Given the description of an element on the screen output the (x, y) to click on. 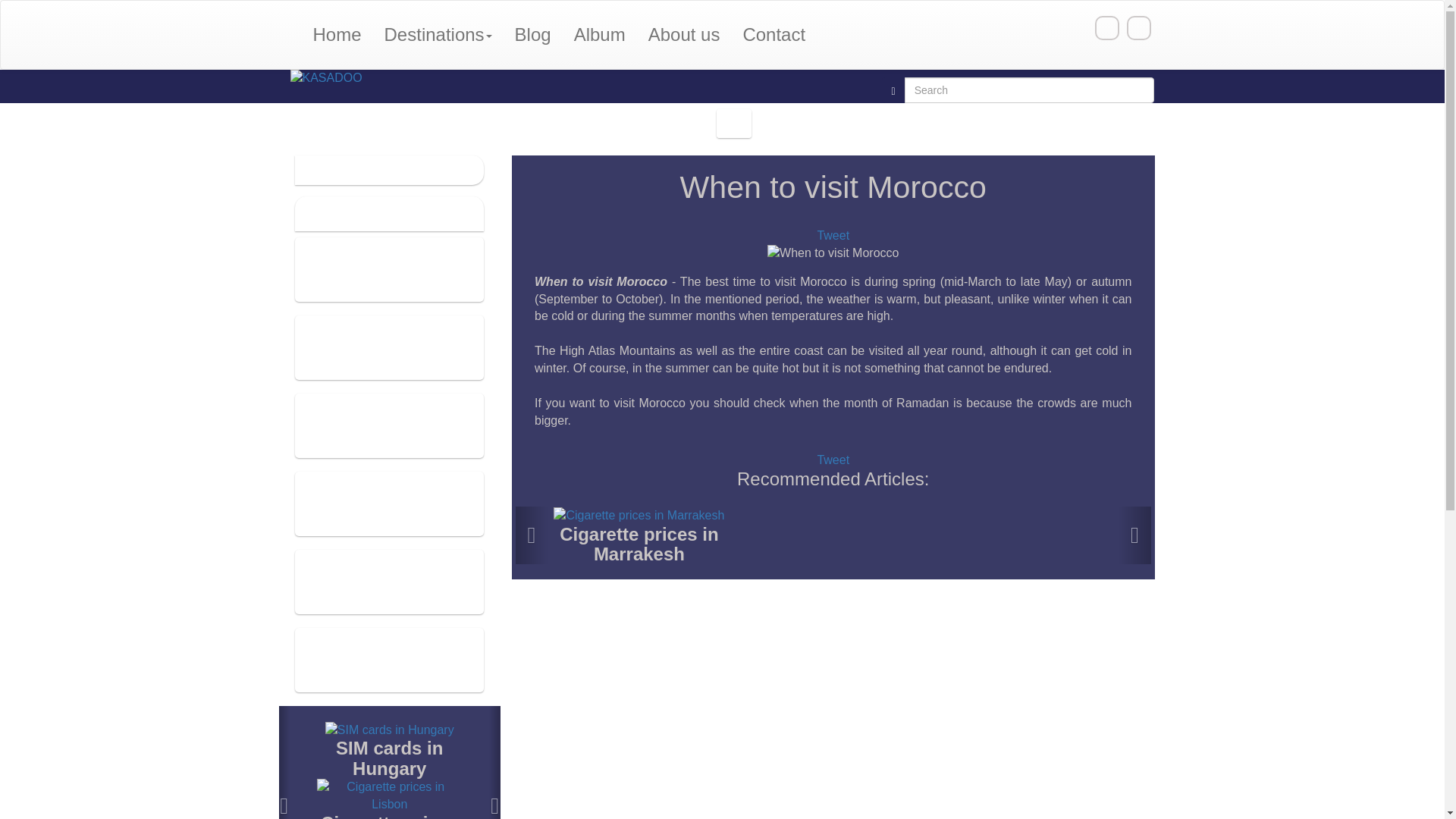
Serbian (1138, 27)
Home (336, 34)
English (1106, 27)
Destinations (437, 34)
